Given the description of an element on the screen output the (x, y) to click on. 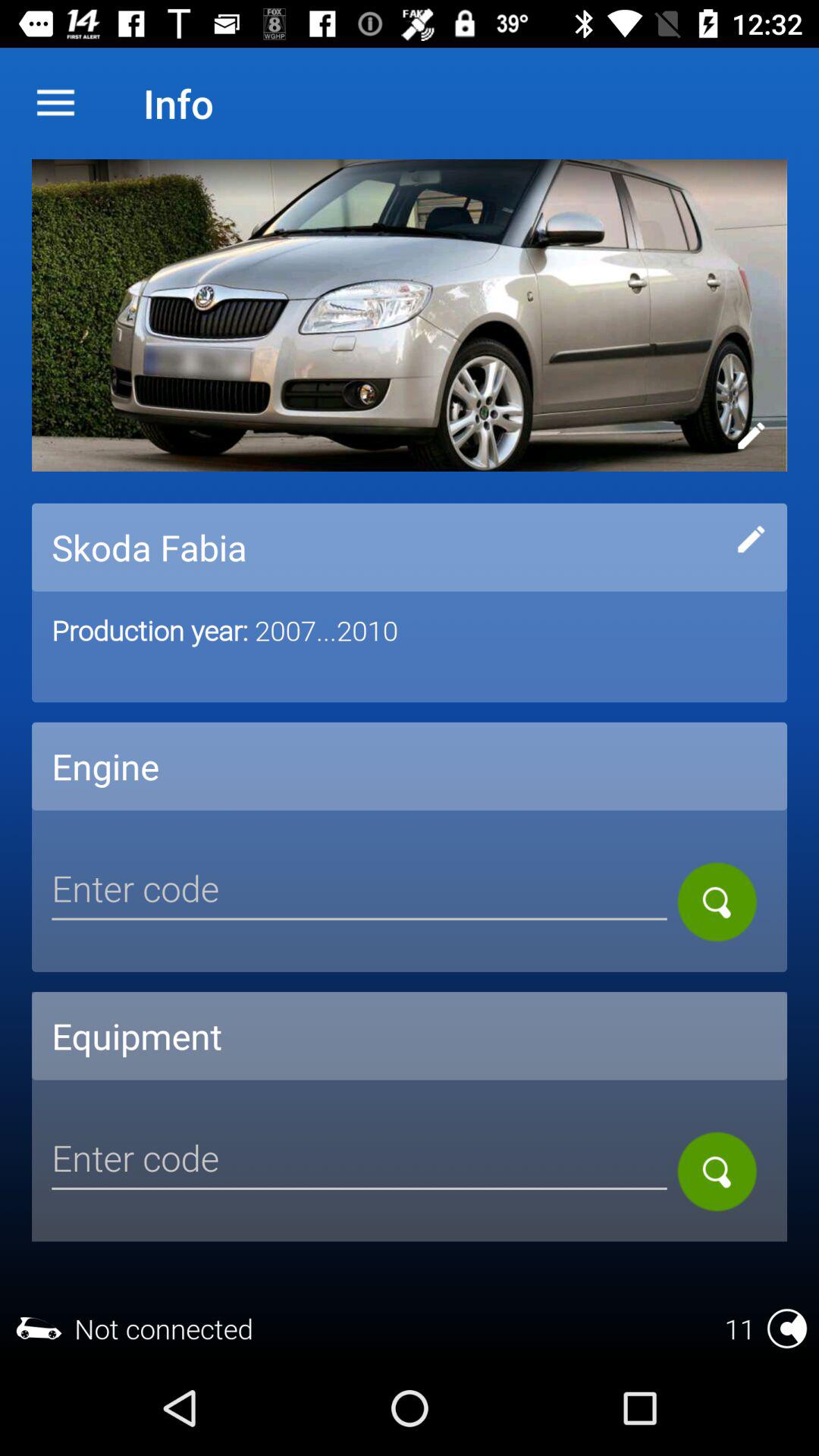
enter equipment code (359, 1160)
